Given the description of an element on the screen output the (x, y) to click on. 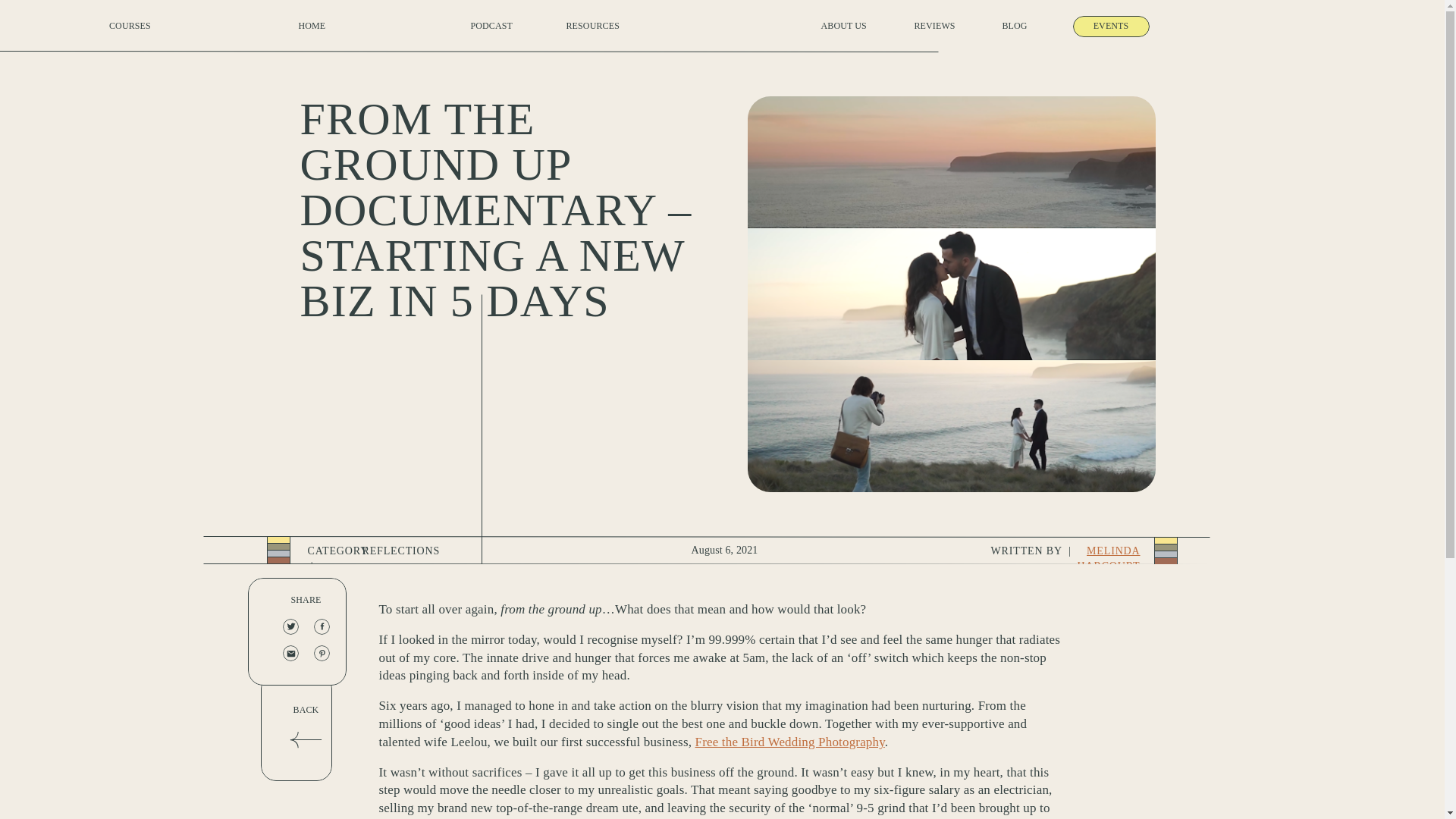
ABOUT US (845, 37)
MELINDA HARCOURT (1108, 558)
EVENTS (1111, 19)
COURSES (132, 29)
HOME (313, 34)
BLOG (1016, 29)
Free the Bird Wedding Photography (790, 741)
RESOURCES (594, 36)
REVIEWS (936, 37)
PODCAST (493, 36)
